Given the description of an element on the screen output the (x, y) to click on. 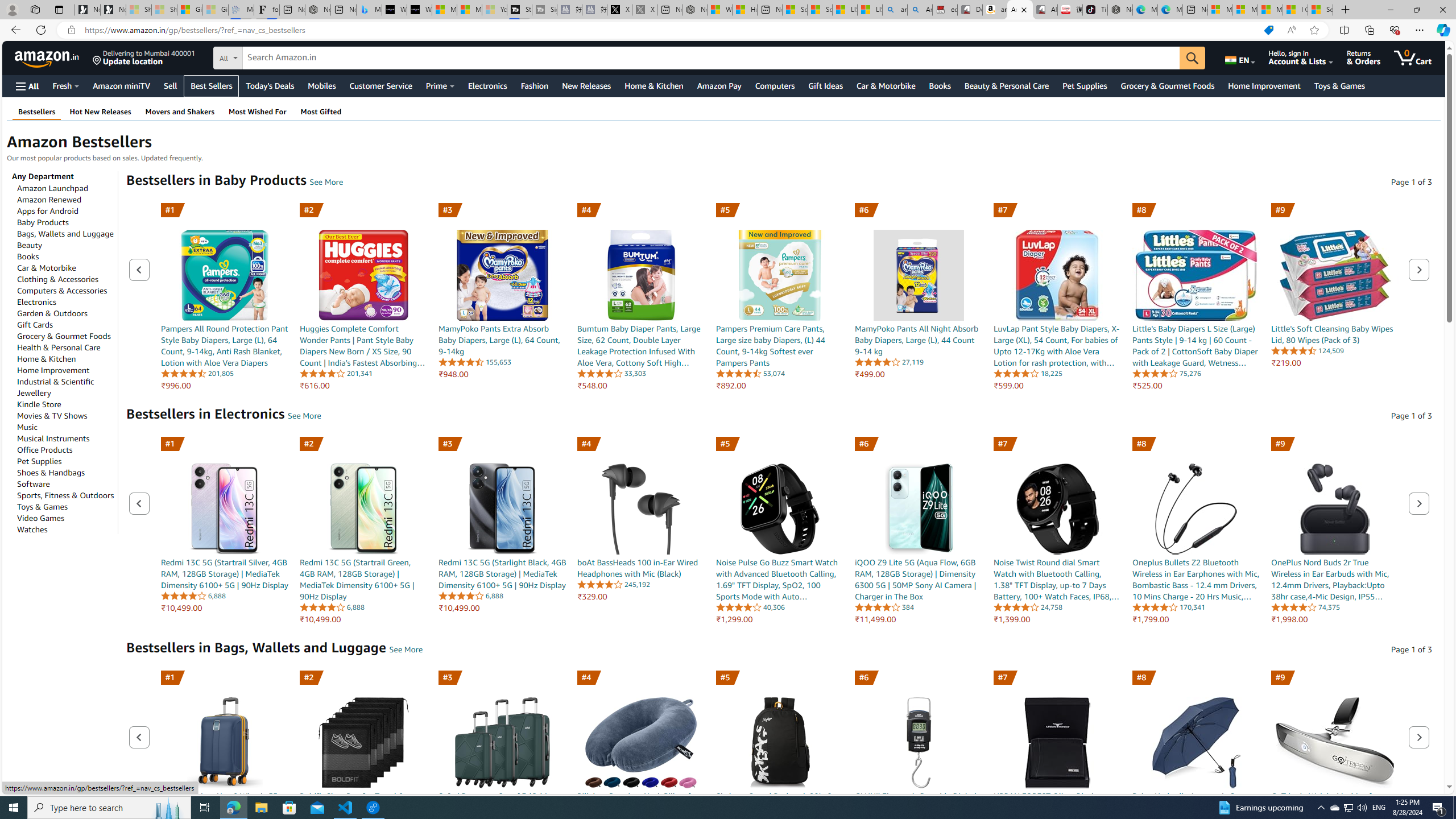
Toys & Games (42, 506)
Bestsellers in Bags, Wallets and Luggage - See More (405, 649)
Delivering to Mumbai 400001 Update location (143, 57)
Most Wished For (257, 111)
